Given the description of an element on the screen output the (x, y) to click on. 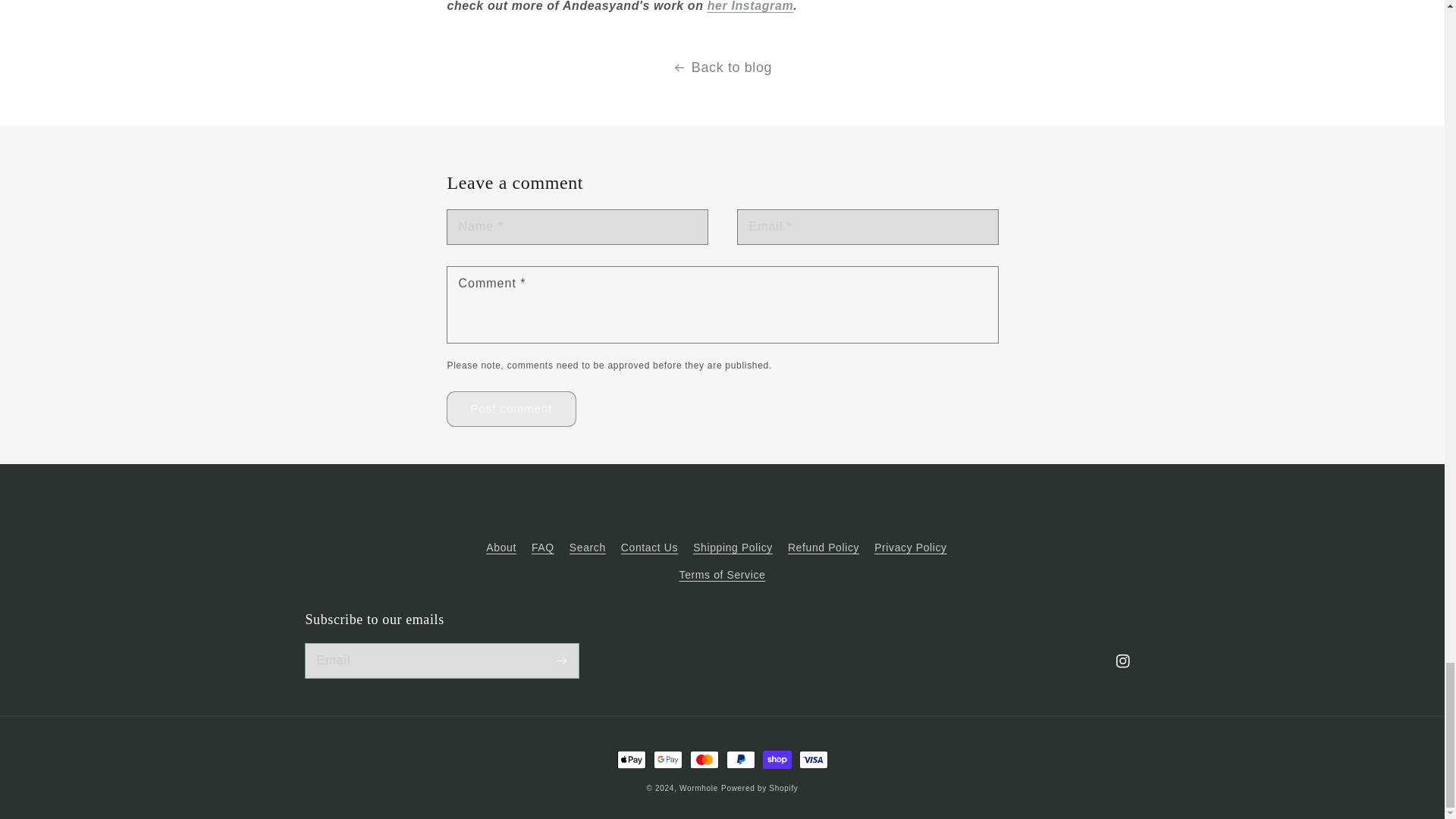
Post comment (511, 408)
